Given the description of an element on the screen output the (x, y) to click on. 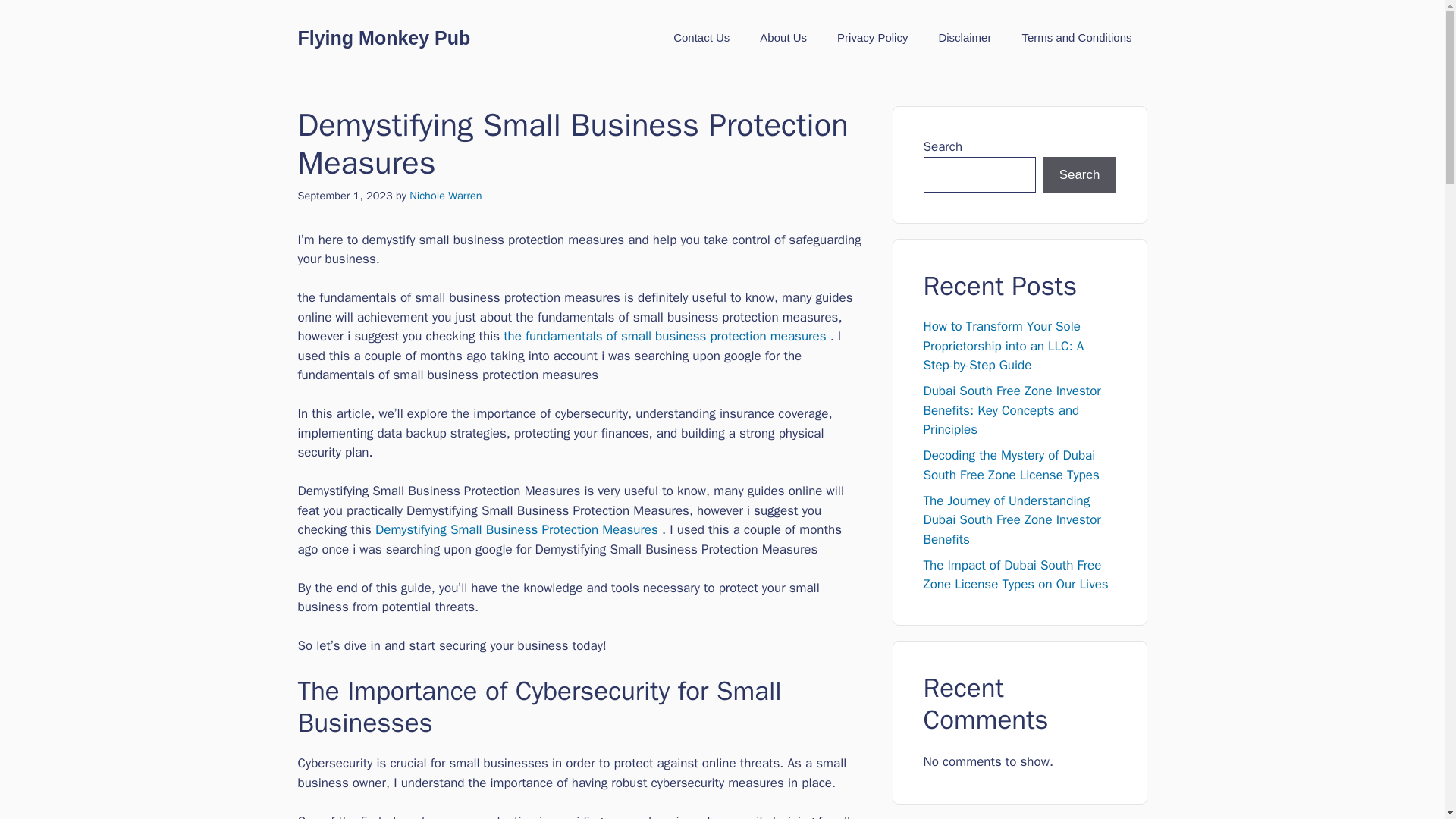
View all posts by Nichole Warren (445, 195)
Demystifying Small Business Protection Measures (516, 529)
the fundamentals of small business protection measures (664, 335)
Disclaimer (964, 37)
Flying Monkey Pub (383, 37)
Privacy Policy (872, 37)
Contact Us (701, 37)
Decoding the Mystery of Dubai South Free Zone License Types (1011, 465)
About Us (783, 37)
Terms and Conditions (1076, 37)
Nichole Warren (445, 195)
